Given the description of an element on the screen output the (x, y) to click on. 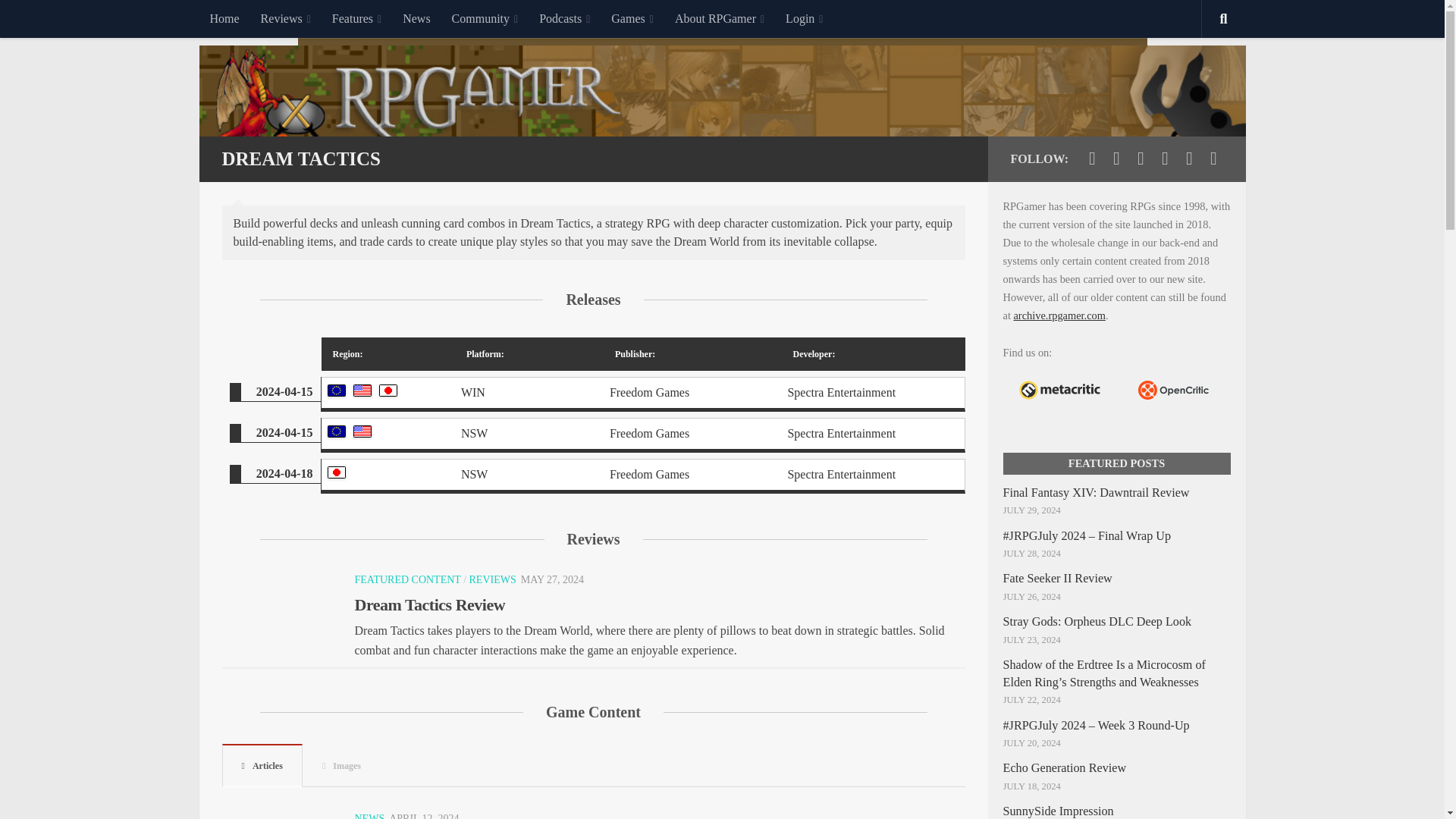
Follow us on Twitter (1091, 158)
Follow us on Discord (1188, 158)
Follow us on Twitch (1164, 158)
Follow us on Facebook (1115, 158)
Follow us on Youtube (1140, 158)
Follow us on Rss (1213, 158)
Skip to content (59, 20)
